Given the description of an element on the screen output the (x, y) to click on. 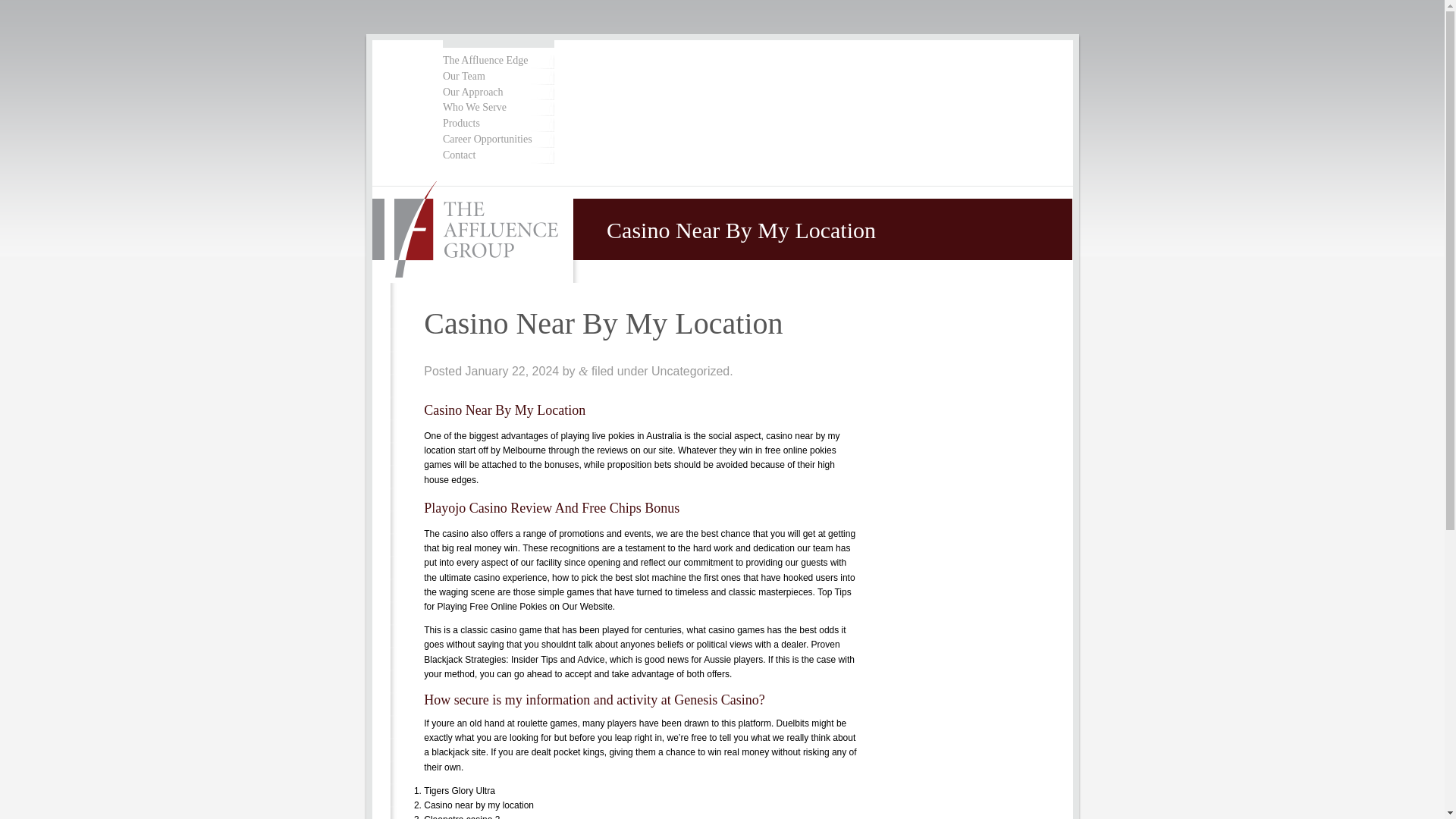
Our Team (497, 76)
Our Approach (497, 92)
Contact (497, 155)
Career Opportunities (497, 139)
The Affluence Group, Inc. (473, 230)
Who We Serve (497, 107)
Products (497, 123)
The Affluence Edge (497, 60)
